Given the description of an element on the screen output the (x, y) to click on. 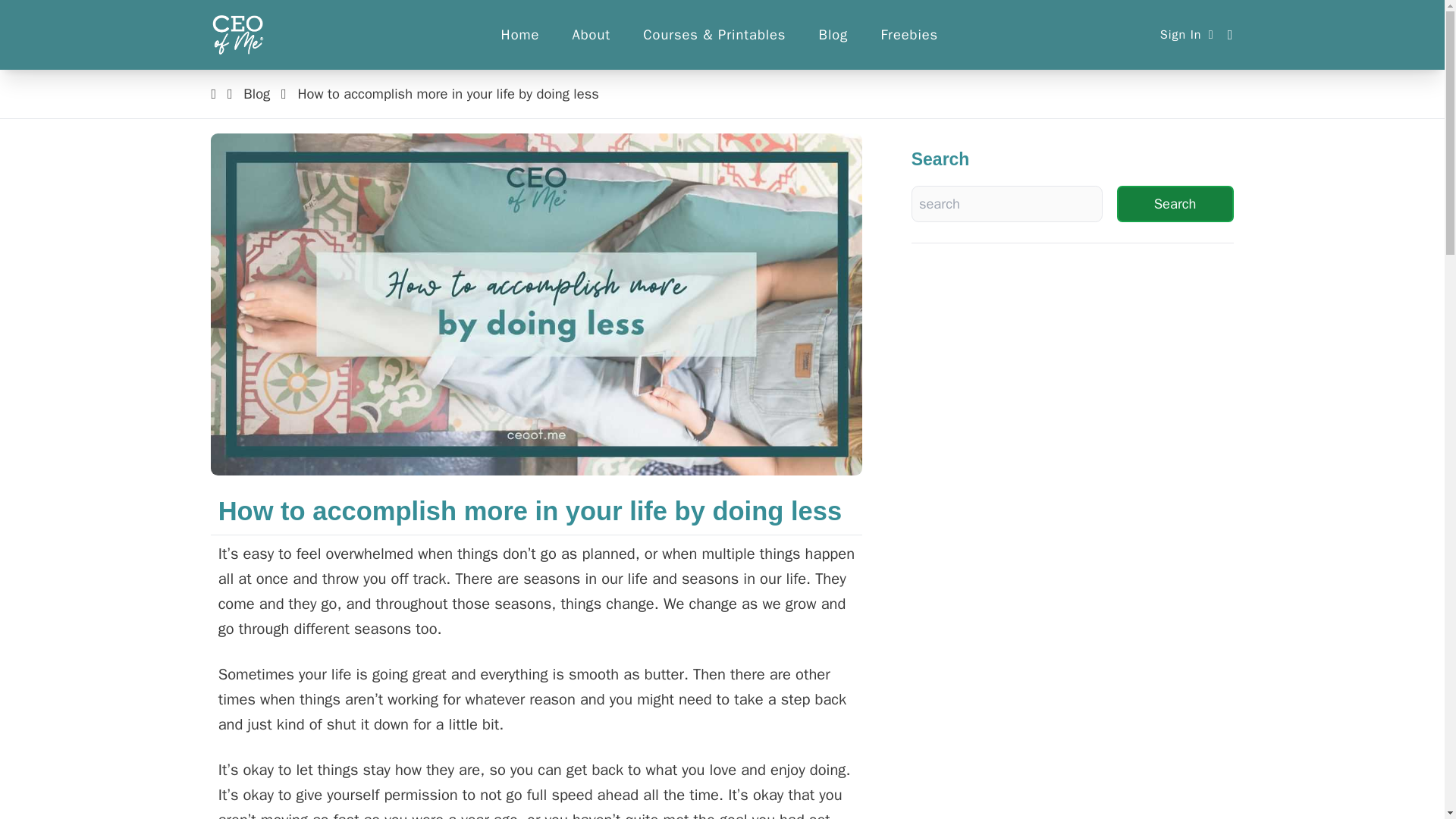
Sign In (1187, 34)
Blog (833, 34)
search (24, 10)
About (591, 34)
Freebies (908, 34)
Home (520, 34)
Search (1174, 203)
Blog (258, 93)
